Given the description of an element on the screen output the (x, y) to click on. 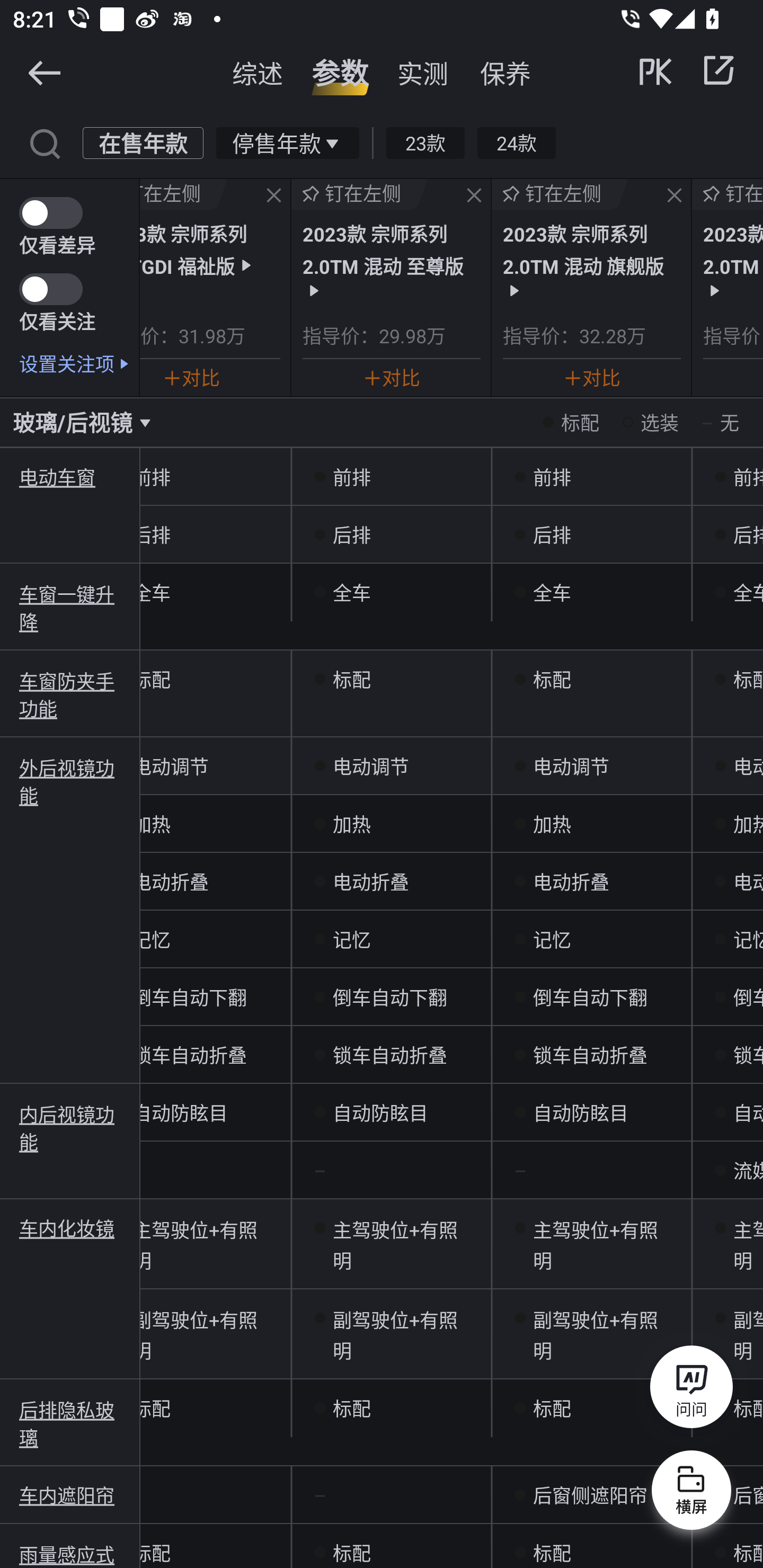
  (688, 70)
综述 (257, 72)
实测 (422, 72)
保养 (505, 72)
 (718, 70)
 (44, 71)
 (44, 142)
在售年款 (142, 142)
停售年款  (287, 142)
23款 (425, 142)
24款 (516, 142)
 钉在左侧 (183, 194)
 (273, 195)
 钉在左侧 (359, 194)
 (474, 195)
 钉在左侧 (559, 194)
 (674, 195)
 钉在左侧 (727, 194)
2023款 宗师系列 2.0TGDI 福祉版  (209, 249)
2023款 宗师系列 2.0TM 混动 至尊版  (391, 258)
2023款 宗师系列 2.0TM 混动 旗舰版  (591, 258)
设置关注项  (79, 363)
对比 (190, 377)
对比 (391, 377)
对比 (591, 377)
玻璃/后视镜  标配 选装 无 (381, 422)
前排 (391, 477)
前排 (591, 477)
电动车窗 (69, 476)
后排 (391, 534)
后排 (591, 534)
全车 (391, 591)
全车 (591, 591)
车窗一键升降 (69, 607)
标配 (391, 679)
标配 (591, 679)
车窗防夹手功能 (69, 693)
电动调节 (391, 765)
电动调节 (591, 765)
外后视镜功能 (69, 780)
加热 (391, 823)
加热 (591, 823)
电动折叠 (391, 881)
电动折叠 (591, 881)
记忆 (391, 940)
记忆 (591, 940)
倒车自动下翻 (391, 997)
倒车自动下翻 (591, 997)
锁车自动折叠 (391, 1054)
锁车自动折叠 (591, 1054)
自动防眩目 (391, 1112)
自动防眩目 (591, 1112)
内后视镜功能 (69, 1126)
主驾驶位+有照明 (391, 1243)
主驾驶位+有照明 (591, 1243)
车内化妆镜 (69, 1228)
副驾驶位+有照明 (391, 1333)
副驾驶位+有照明 (591, 1333)
 问问 (691, 1389)
标配 (391, 1408)
标配 (591, 1408)
后排隐私玻璃 (69, 1422)
后窗侧遮阳帘 (591, 1495)
车内遮阳帘 (69, 1494)
标配 (391, 1546)
标配 (591, 1546)
雨量感应式雨刷 (69, 1553)
